Given the description of an element on the screen output the (x, y) to click on. 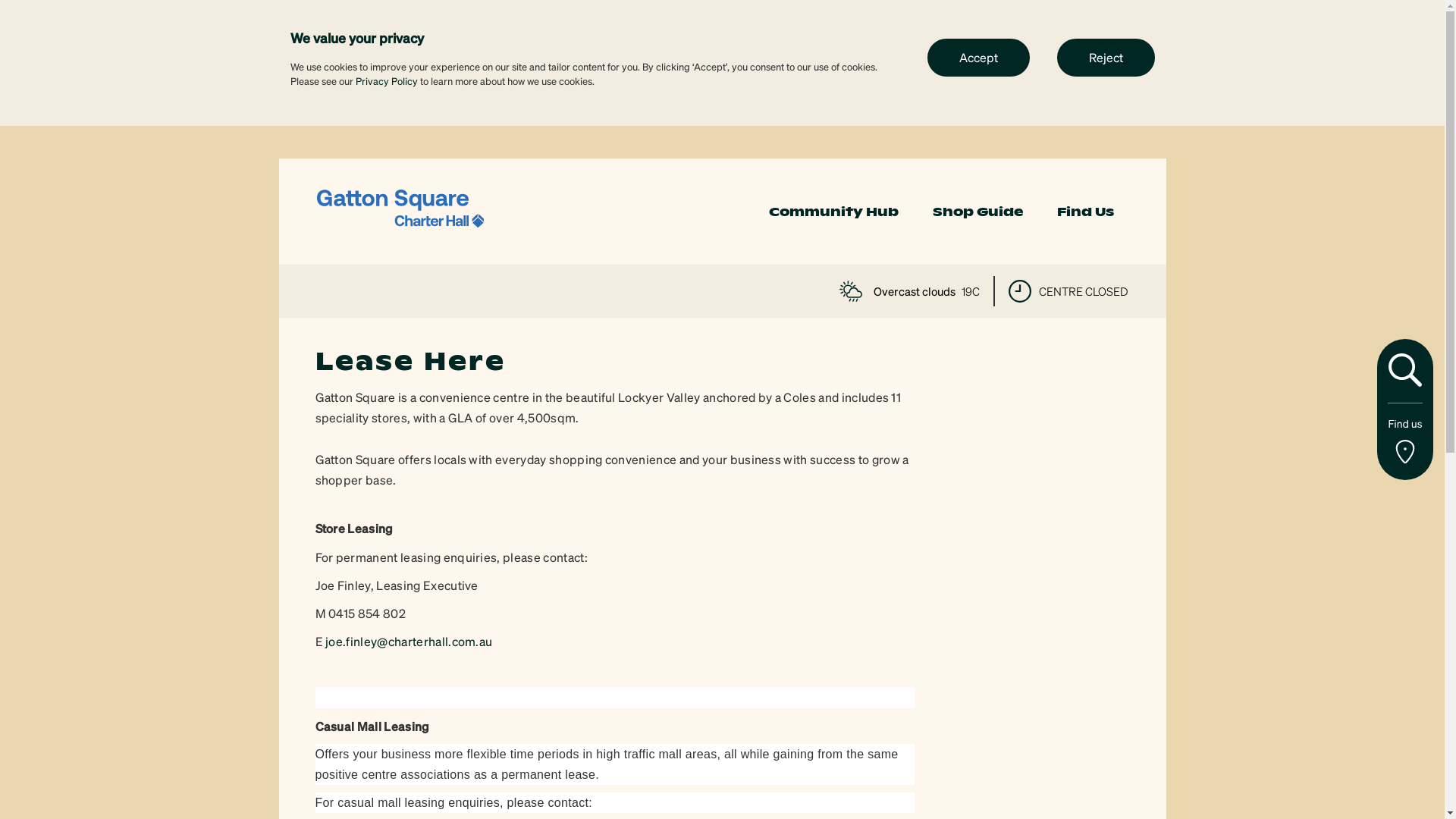
time Element type: hover (1019, 290)
Accept Element type: text (977, 56)
joe.finley@charterhall.com.au Element type: text (408, 641)
Shop Guide Element type: text (977, 211)
Community Hub Element type: text (833, 211)
Reject Element type: text (1105, 56)
Find Us Element type: text (1085, 211)
CENTRE CLOSED Element type: text (1068, 290)
Privacy Policy Element type: text (385, 80)
